Given the description of an element on the screen output the (x, y) to click on. 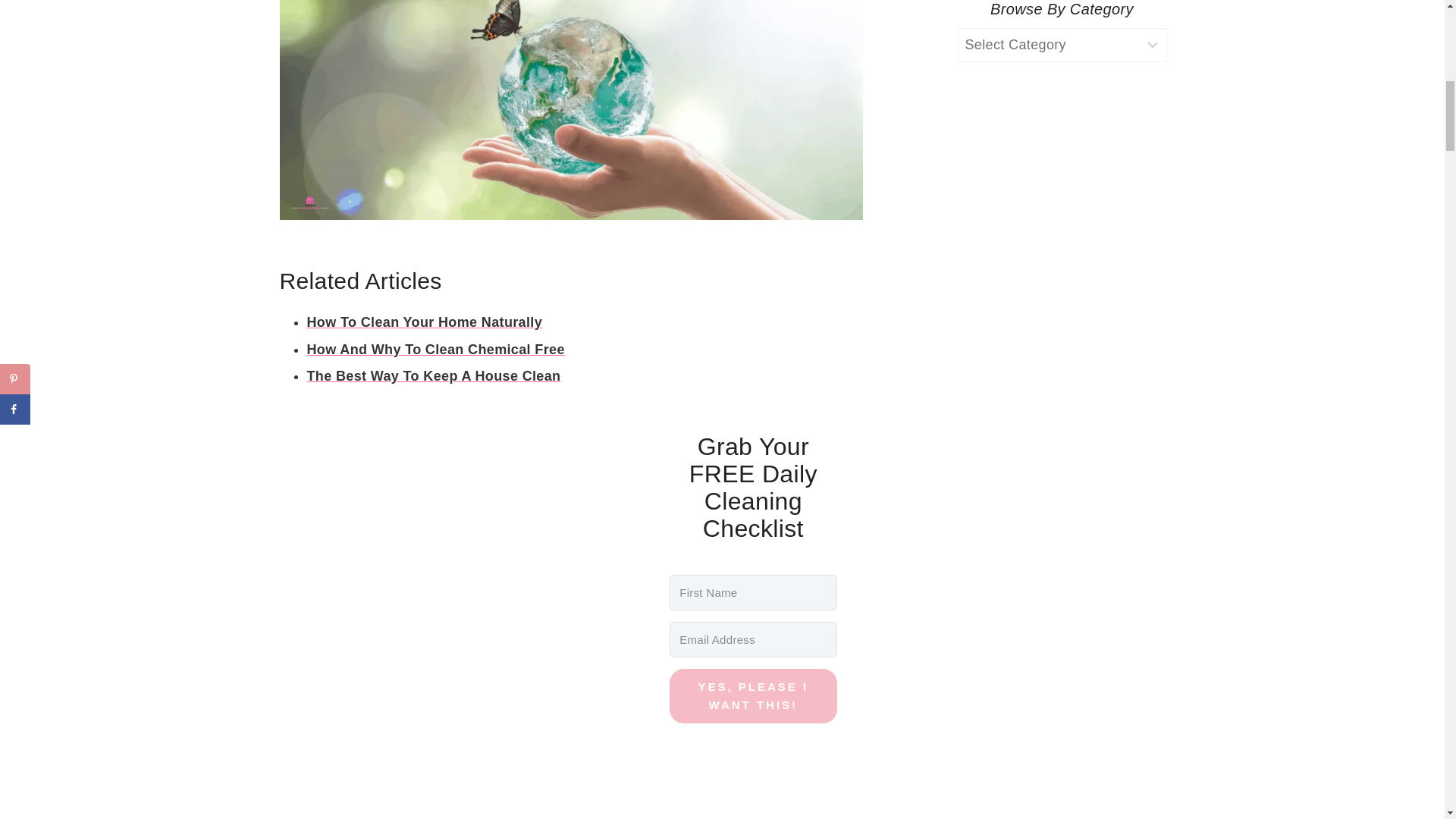
How To Clean Your Home Naturally (423, 322)
How And Why To Clean Chemical Free (434, 349)
The Best Way To Keep A House Clean (432, 376)
YES, PLEASE I WANT THIS! (752, 696)
